Given the description of an element on the screen output the (x, y) to click on. 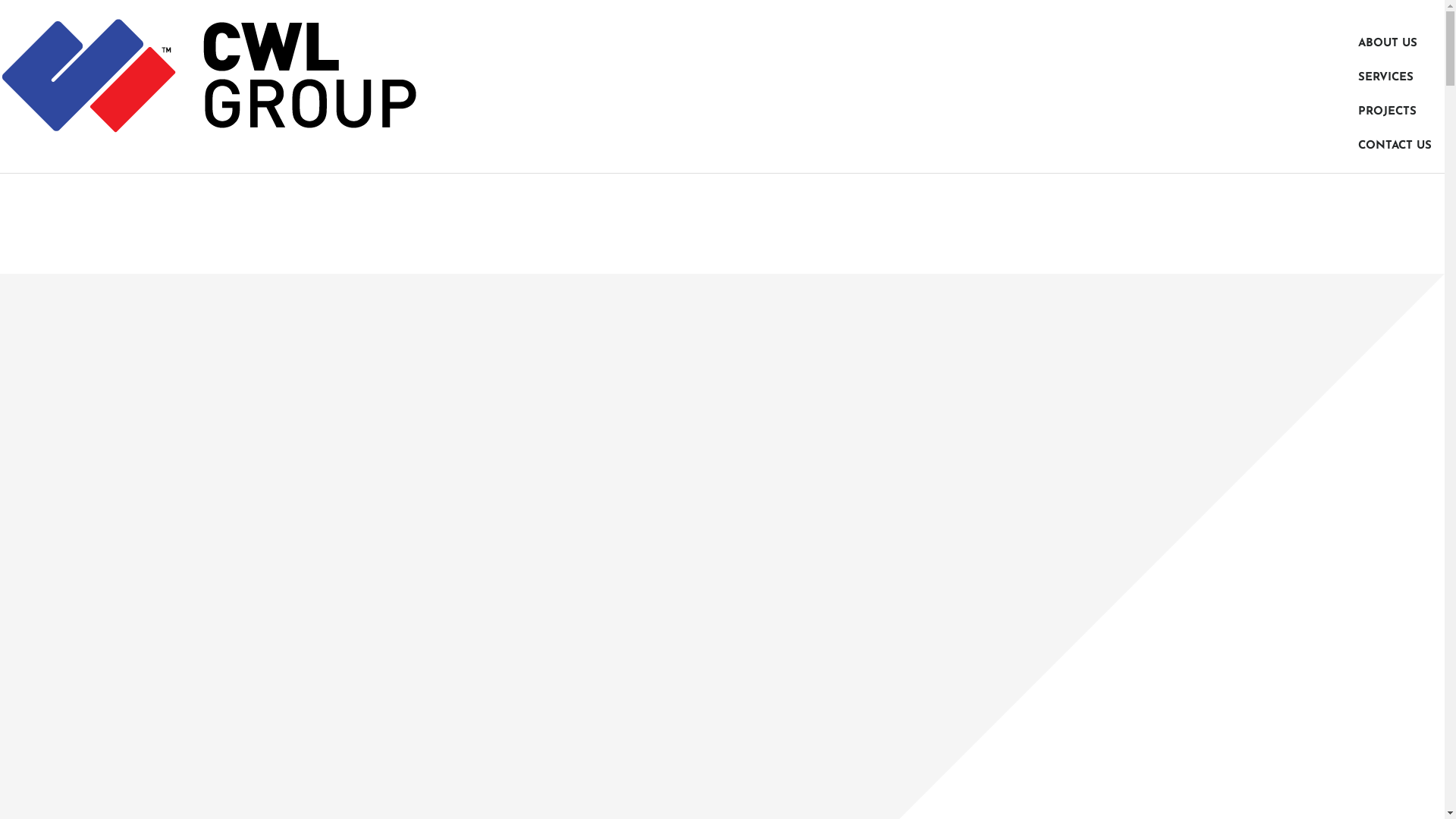
CONTACT US Element type: text (1394, 145)
CWL Group Element type: hover (208, 75)
PROJECTS Element type: text (1387, 111)
ABOUT US Element type: text (1387, 43)
SERVICES Element type: text (1385, 77)
